Given the description of an element on the screen output the (x, y) to click on. 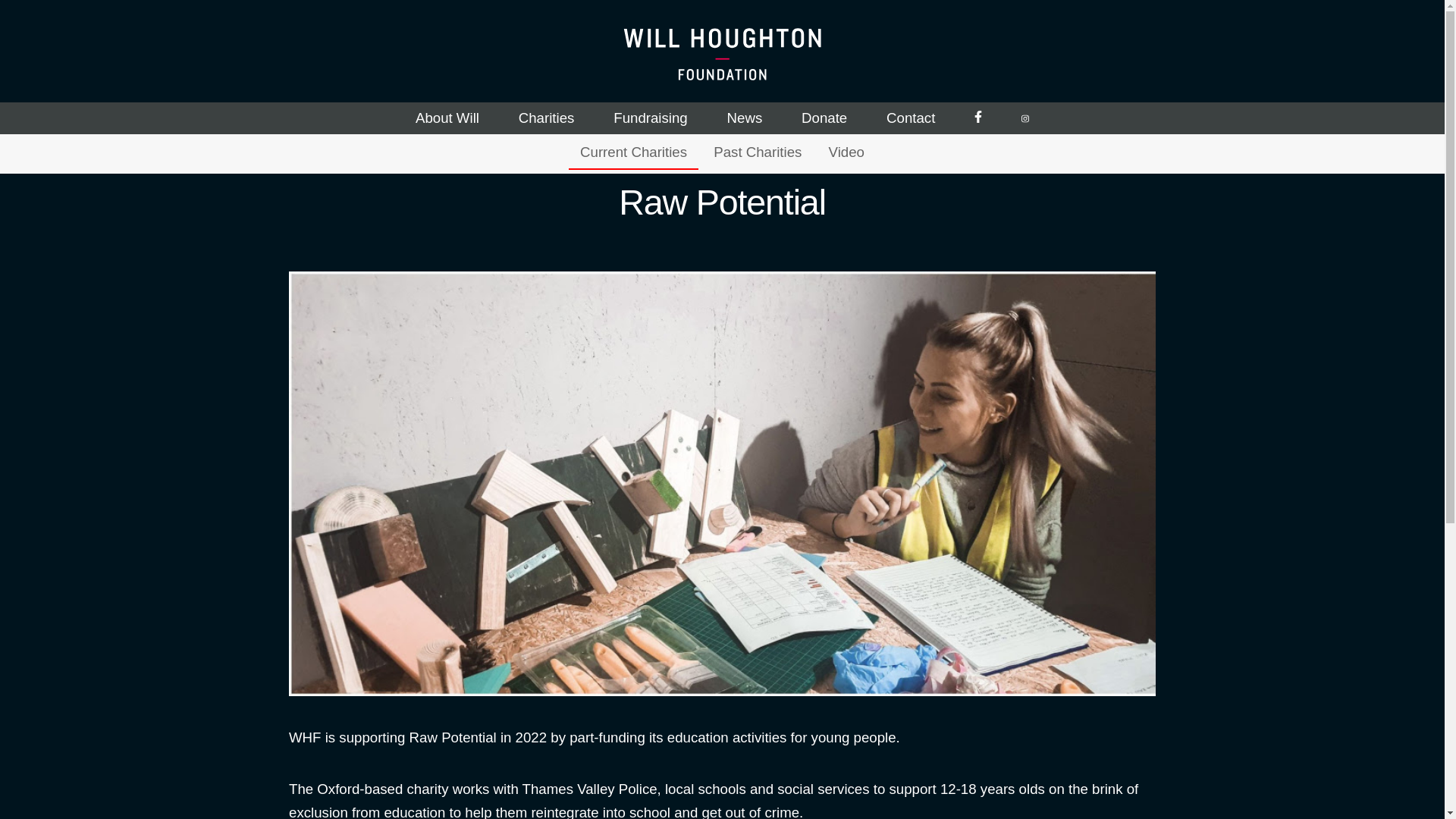
Contact (911, 118)
Video (846, 153)
Donate (824, 118)
News (743, 118)
Charities (545, 118)
About Will (447, 118)
Current Charities (633, 153)
Fundraising (649, 118)
Past Charities (756, 153)
